Given the description of an element on the screen output the (x, y) to click on. 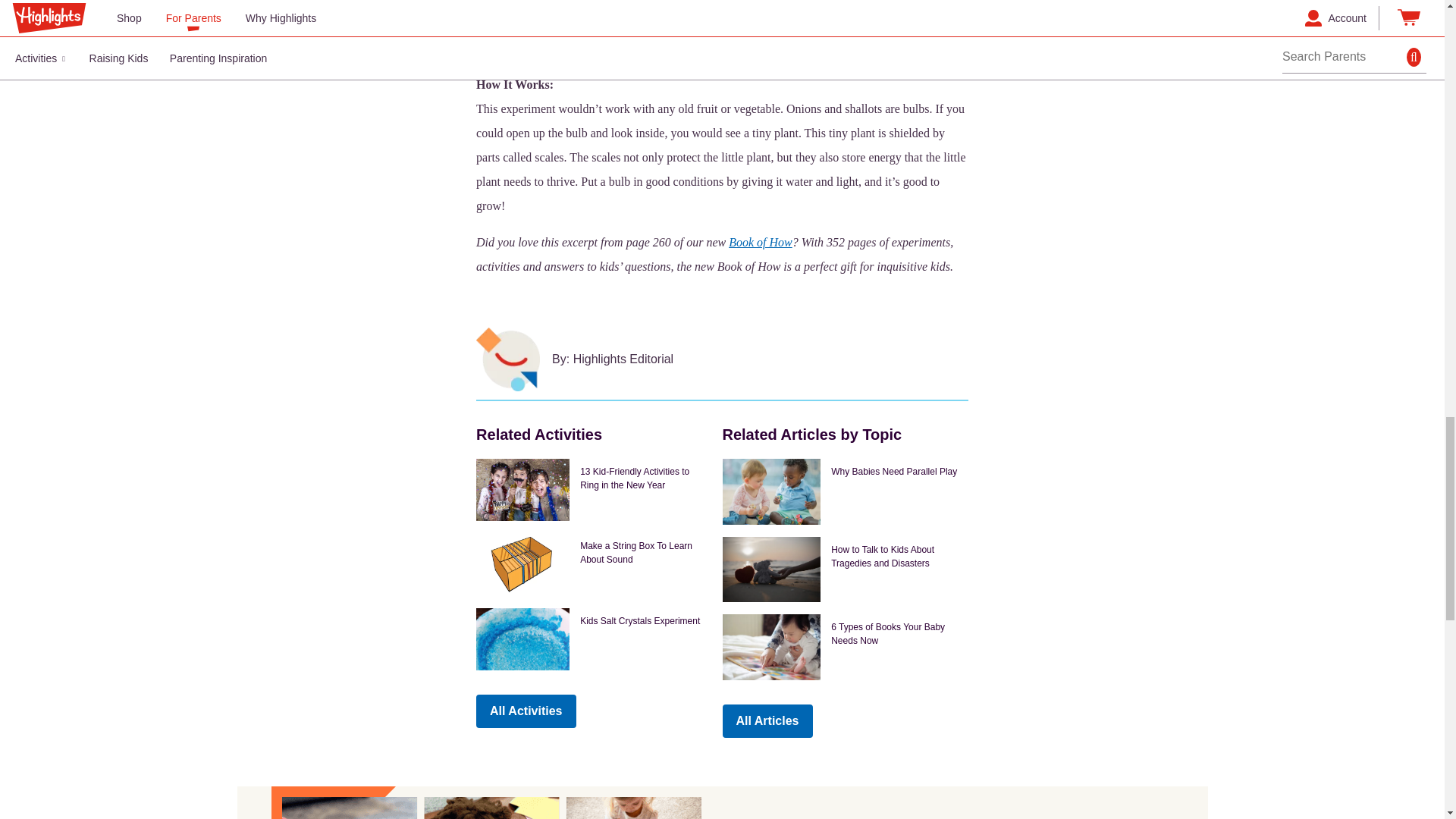
6 Types of Books Your Baby Needs Now (845, 646)
Kids Salt Crystals Experiment (593, 639)
Book of How (760, 241)
All Activities (525, 711)
Make a String Box To Learn About Sound (593, 564)
All Articles (767, 720)
13 Kid-Friendly Activities to Ring in the New Year (593, 489)
How to Talk to Kids About Tragedies and Disasters (845, 569)
Why Babies Need Parallel Play (845, 491)
